Given the description of an element on the screen output the (x, y) to click on. 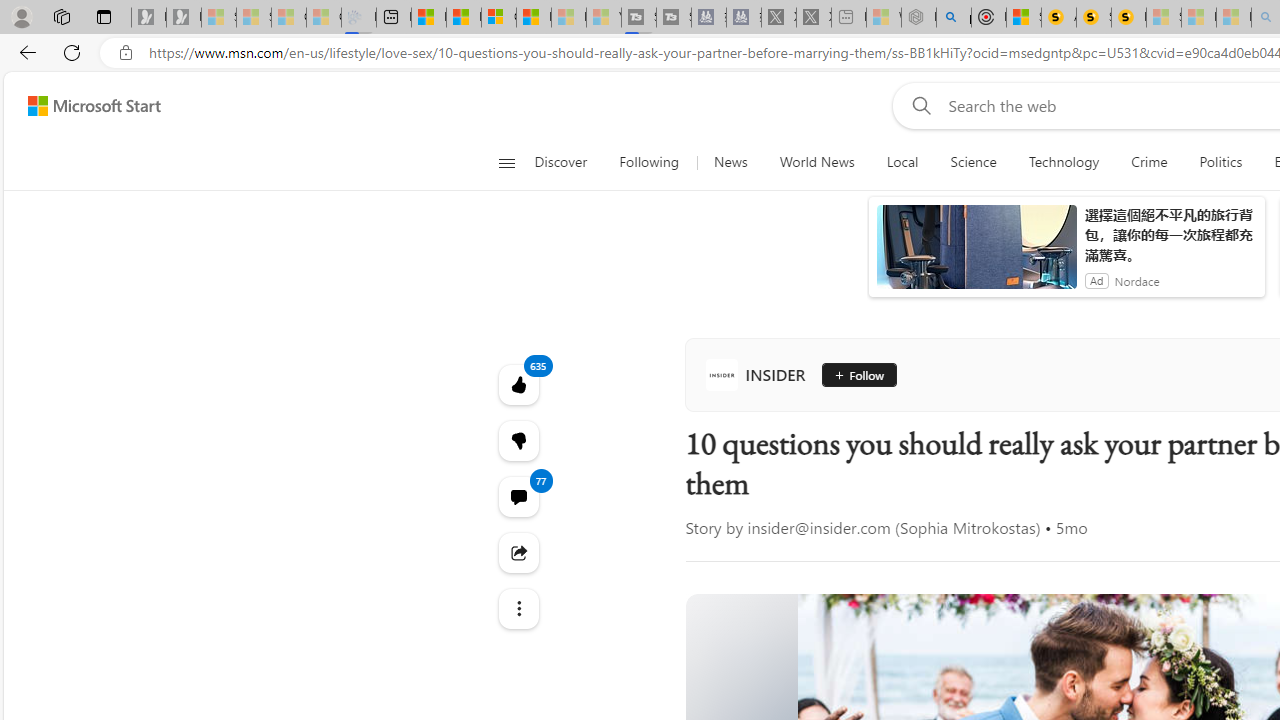
poe - Search (954, 17)
Crime (1149, 162)
More like this635Fewer like thisView comments (517, 440)
Science (973, 162)
World News (816, 162)
Open navigation menu (506, 162)
Skip to content (86, 105)
Technology (1063, 162)
